Given the description of an element on the screen output the (x, y) to click on. 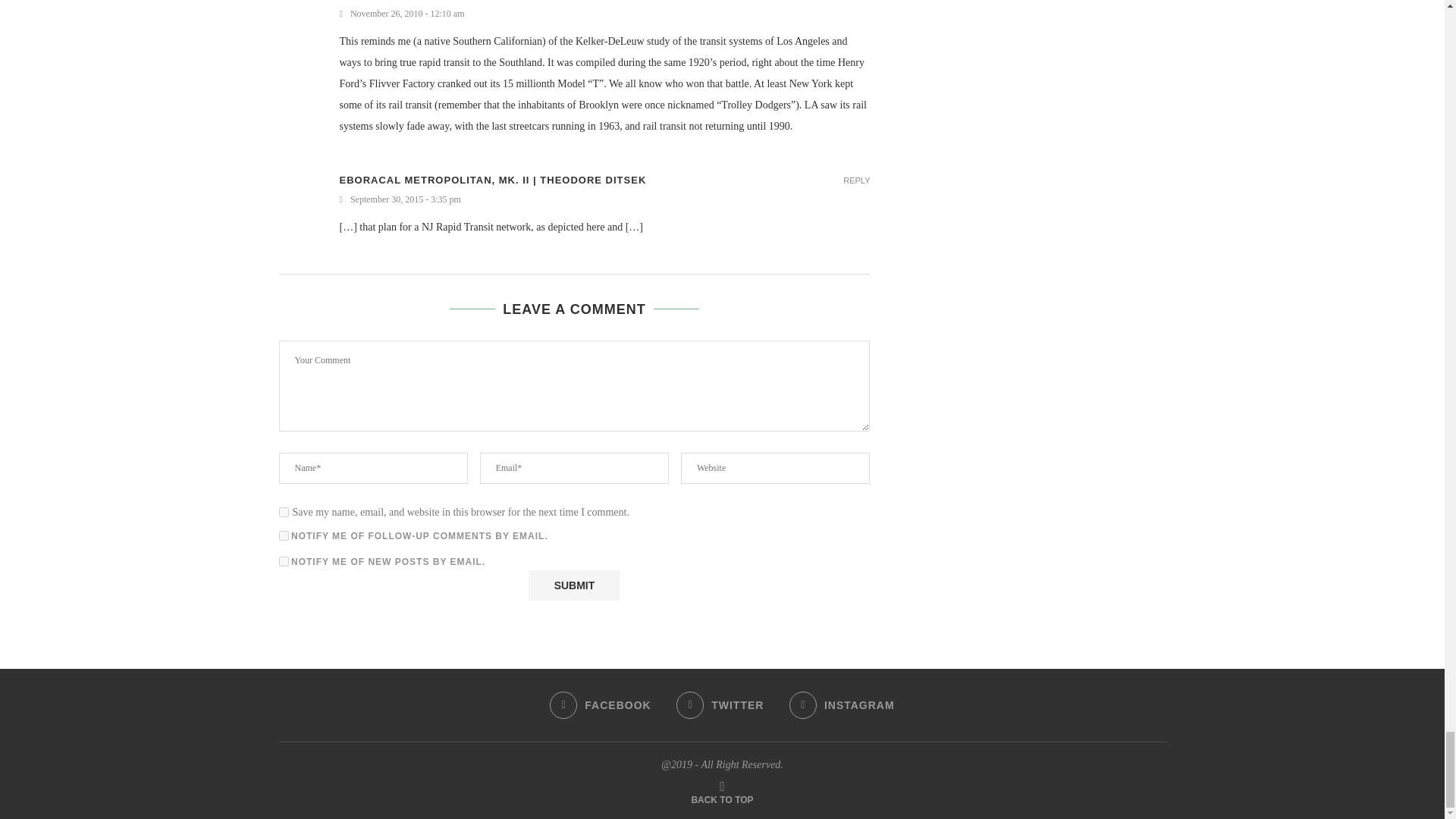
yes (283, 511)
subscribe (283, 561)
subscribe (283, 535)
Submit (574, 585)
